Given the description of an element on the screen output the (x, y) to click on. 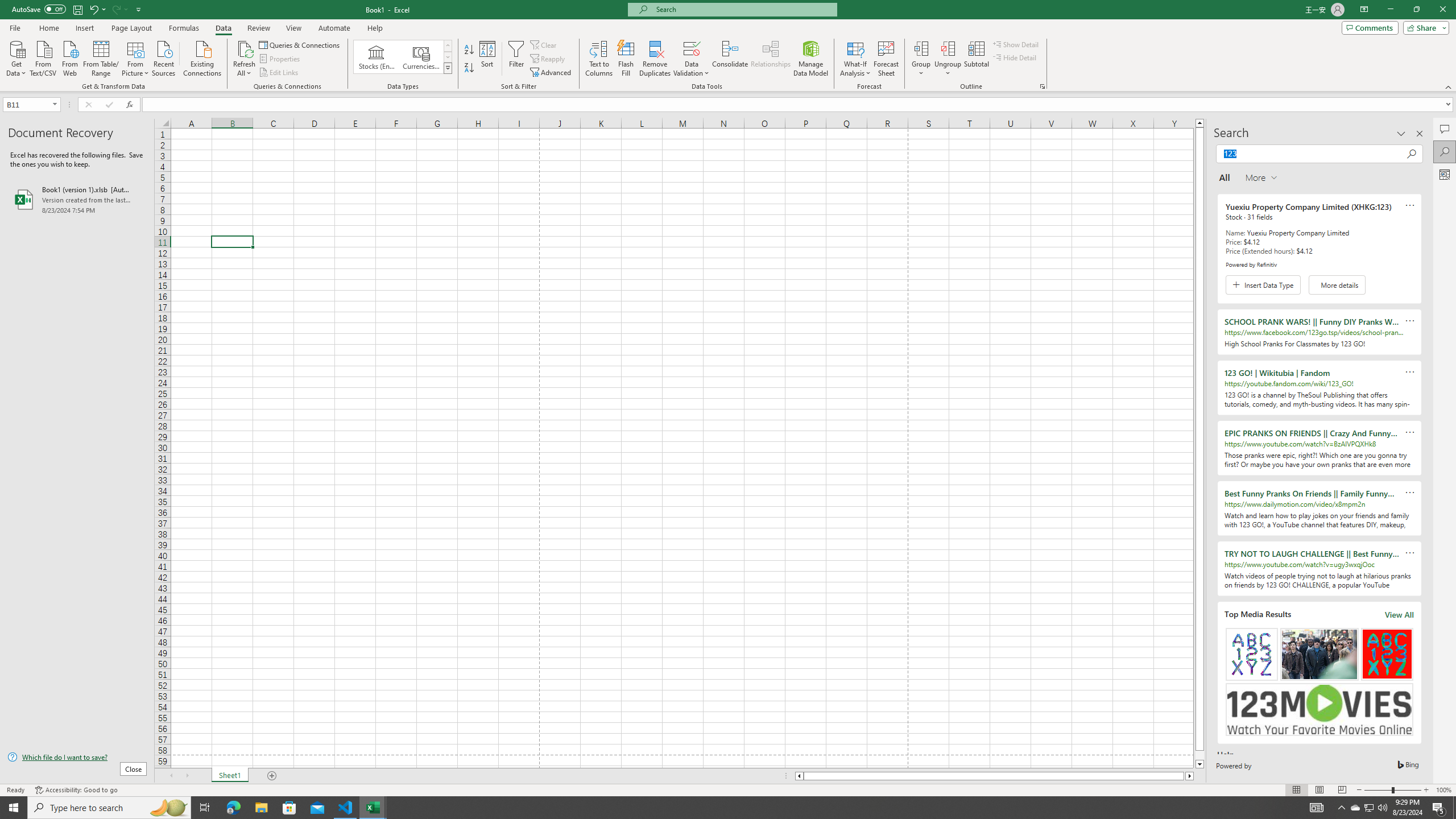
Relationships (770, 58)
Row up (448, 45)
Search (1444, 151)
Class: NetUIImage (447, 68)
Remove Duplicates (654, 58)
Add Sheet (272, 775)
Analyze Data (1444, 173)
Forecast Sheet (885, 58)
Currencies (English) (420, 56)
Properties (280, 58)
Automate (334, 28)
Book1 (version 1).xlsb  [AutoRecovered] (77, 199)
Sort... (487, 58)
Collapse the Ribbon (1448, 86)
